Given the description of an element on the screen output the (x, y) to click on. 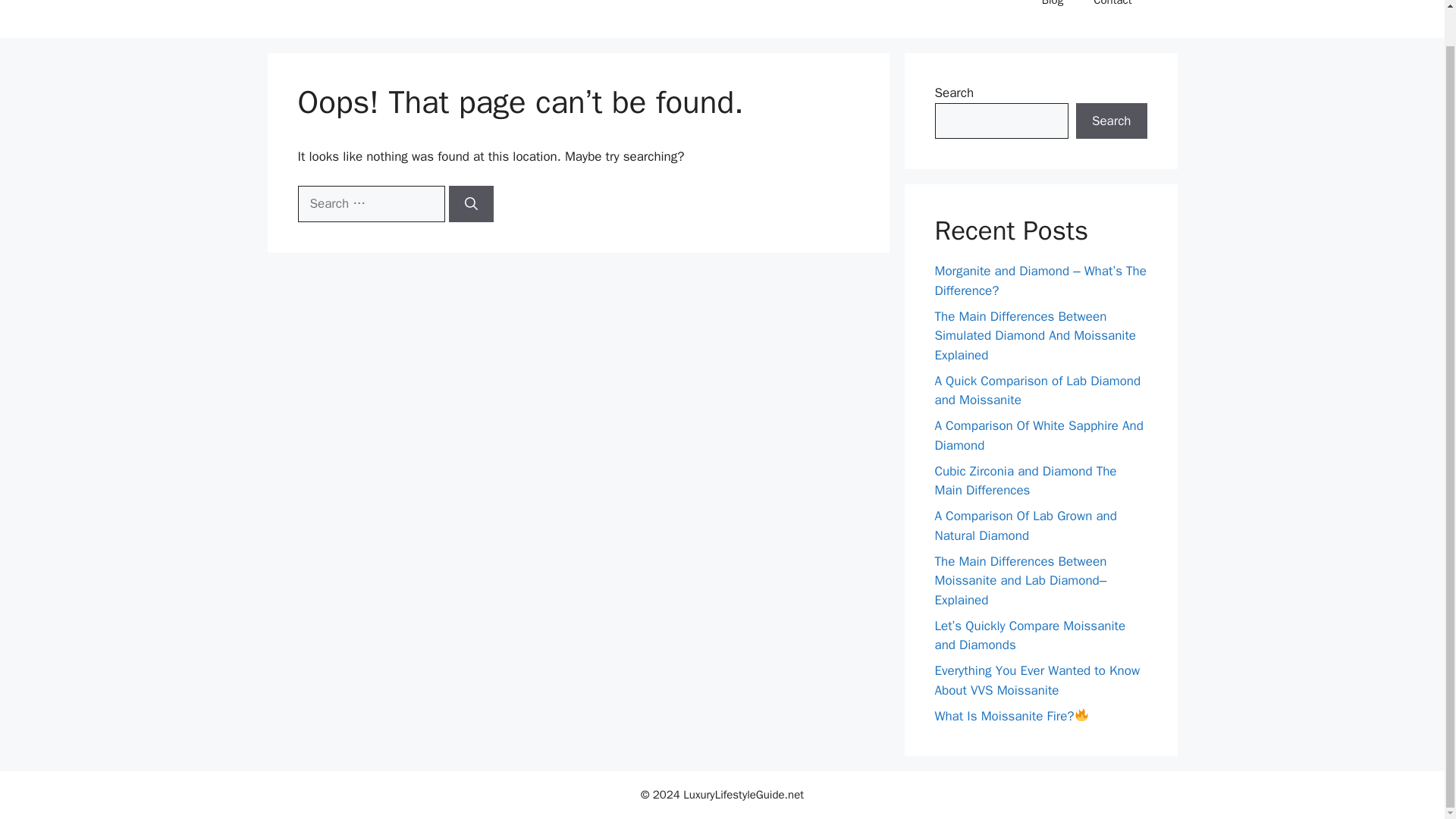
Blog (1052, 11)
Search for: (370, 203)
Search (1111, 121)
Everything You Ever Wanted to Know About VVS Moissanite (1037, 680)
A Comparison Of Lab Grown and Natural Diamond (1025, 525)
A Comparison Of White Sapphire And Diamond (1038, 435)
A Quick Comparison of Lab Diamond and Moissanite (1037, 390)
Contact (1112, 11)
What Is Moissanite Fire? (1010, 715)
